Given the description of an element on the screen output the (x, y) to click on. 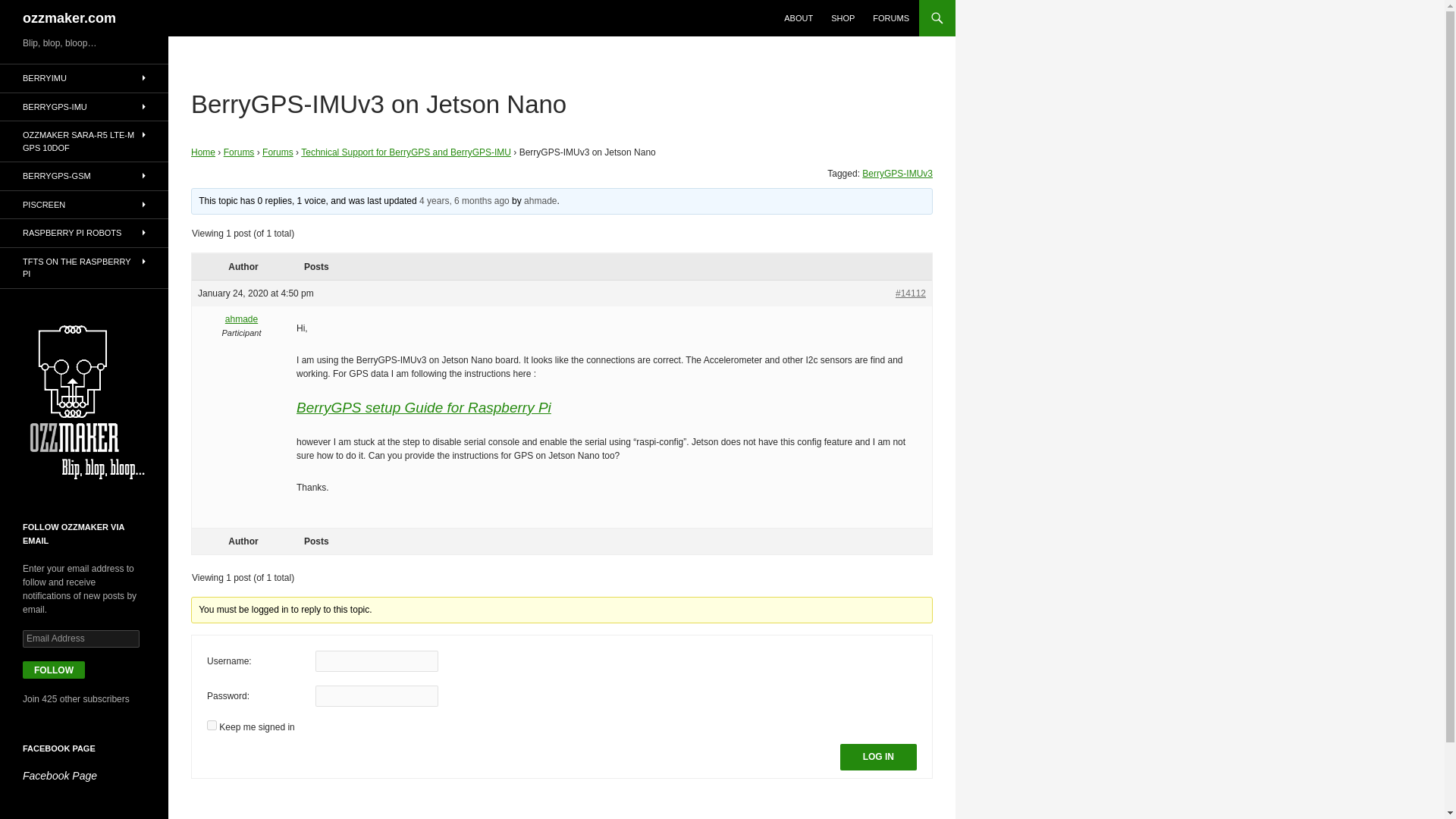
View ahmade's profile (540, 200)
LOG IN (878, 756)
4 years, 6 months ago (464, 200)
Home (202, 152)
Forums (239, 152)
BerryGPS setup Guide for Raspberry Pi (424, 407)
FORUMS (890, 18)
Forums (278, 152)
BerryGPS-IMUv3 (897, 173)
ABOUT (798, 18)
